Given the description of an element on the screen output the (x, y) to click on. 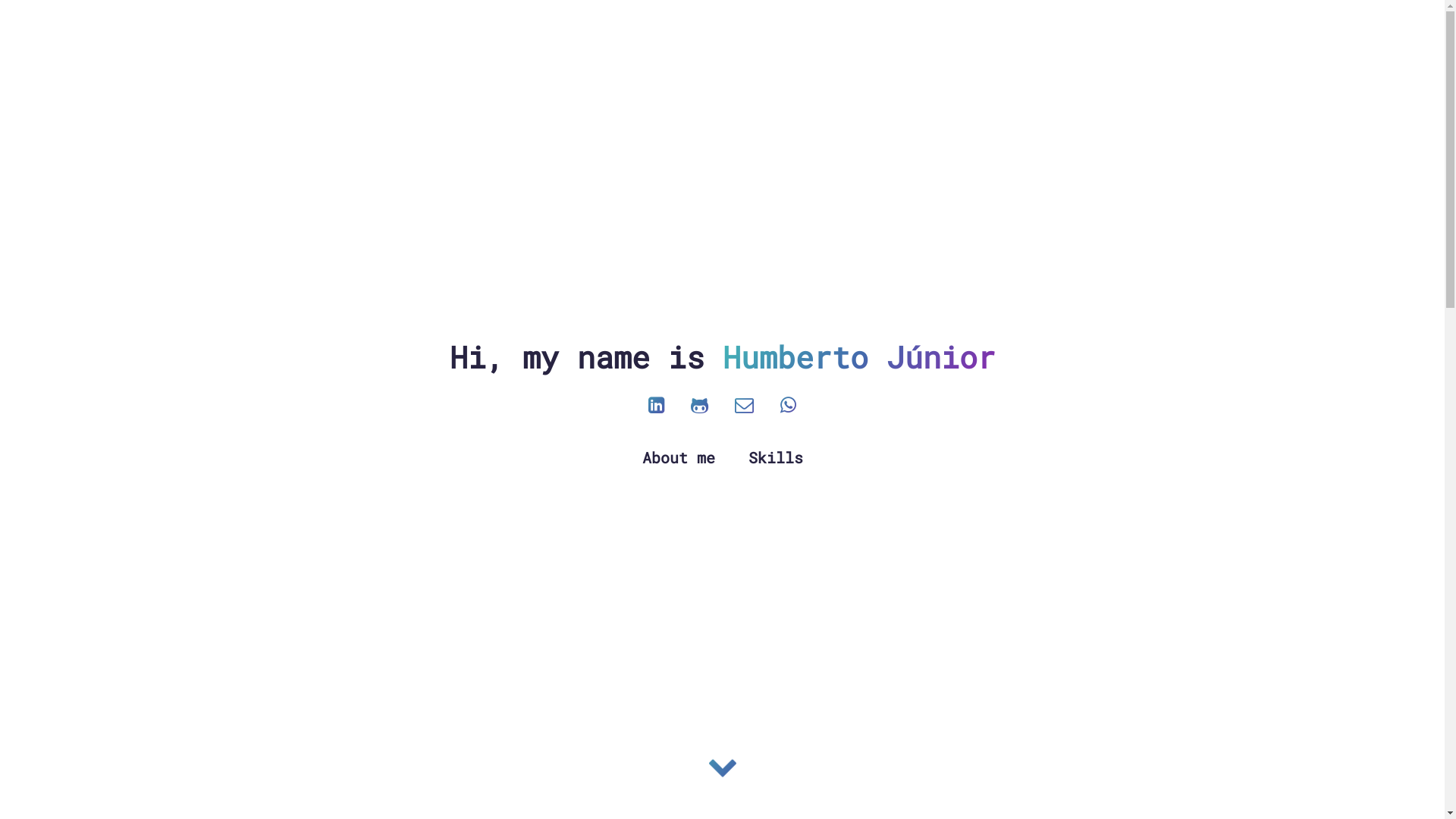
Skills Element type: text (774, 457)
About me Element type: text (682, 457)
